Given the description of an element on the screen output the (x, y) to click on. 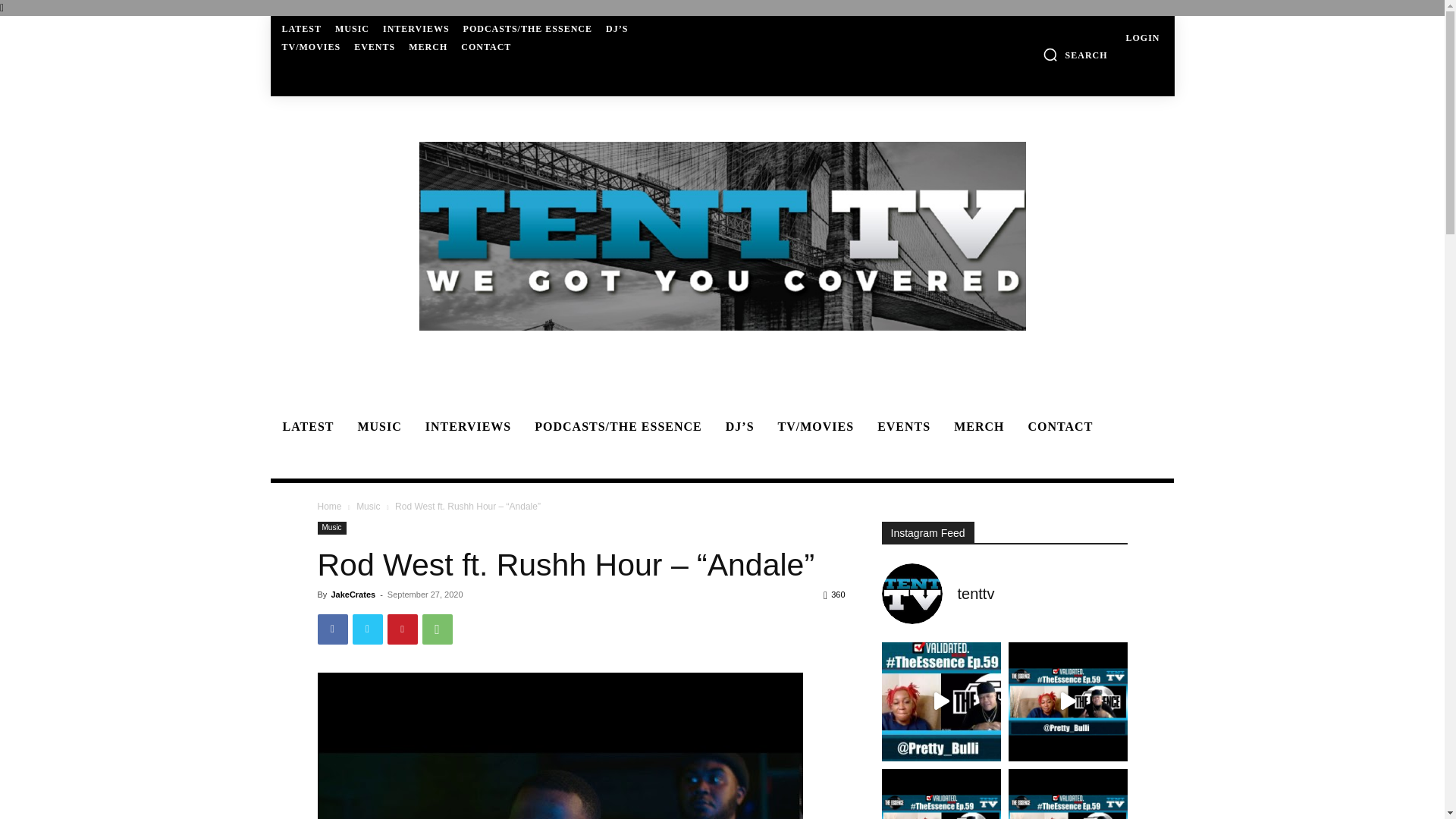
INTERVIEWS (465, 426)
Twitter (366, 629)
MERCH (976, 426)
Facebook (332, 629)
EVENTS (373, 46)
View all posts in Music (368, 506)
LOGIN (1141, 37)
EVENTS (900, 426)
INTERVIEWS (416, 28)
LATEST (302, 28)
MERCH (427, 46)
MUSIC (377, 426)
CONTACT (486, 46)
LATEST (304, 426)
SEARCH (1075, 54)
